Given the description of an element on the screen output the (x, y) to click on. 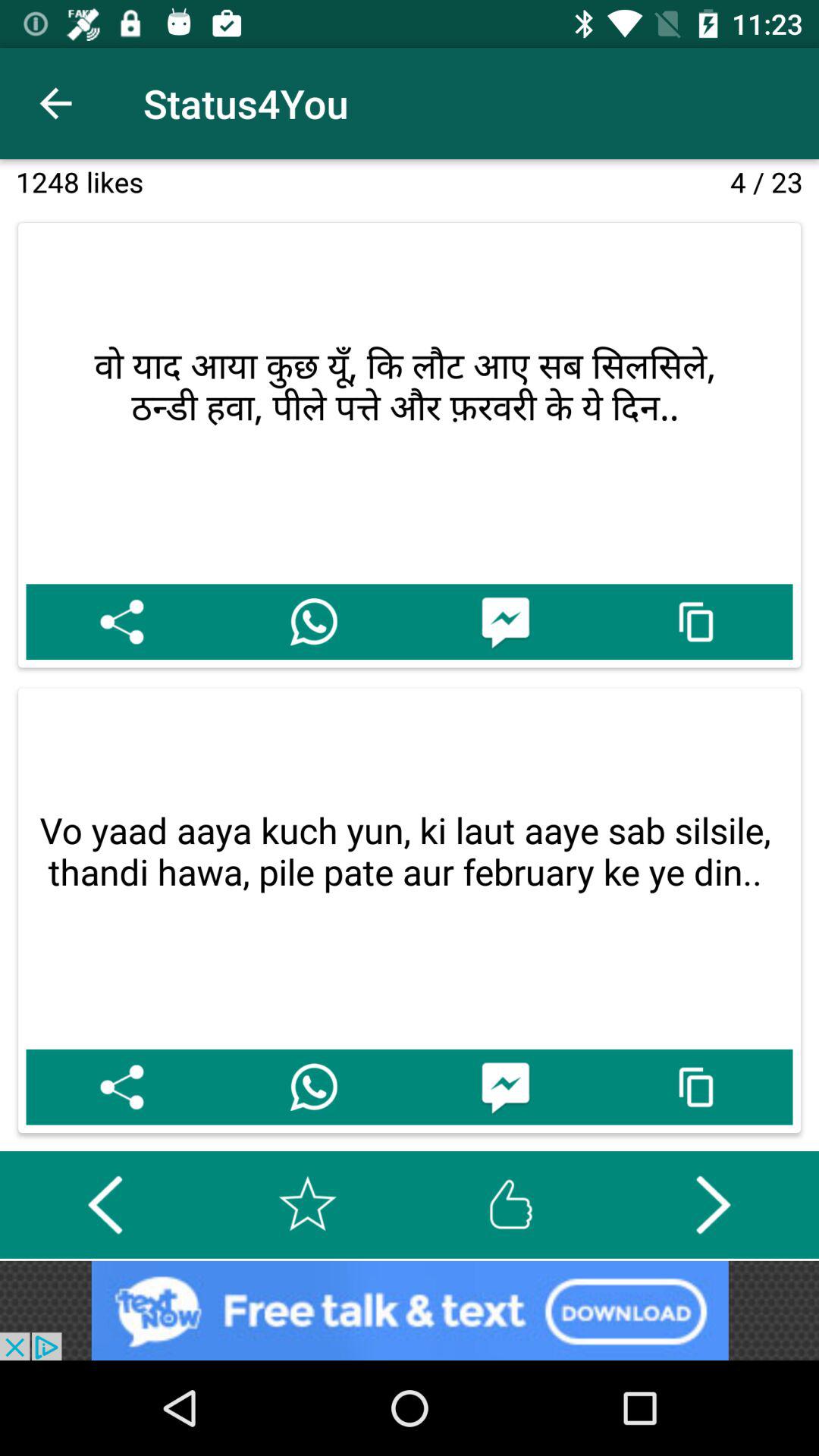
call (313, 1086)
